Given the description of an element on the screen output the (x, y) to click on. 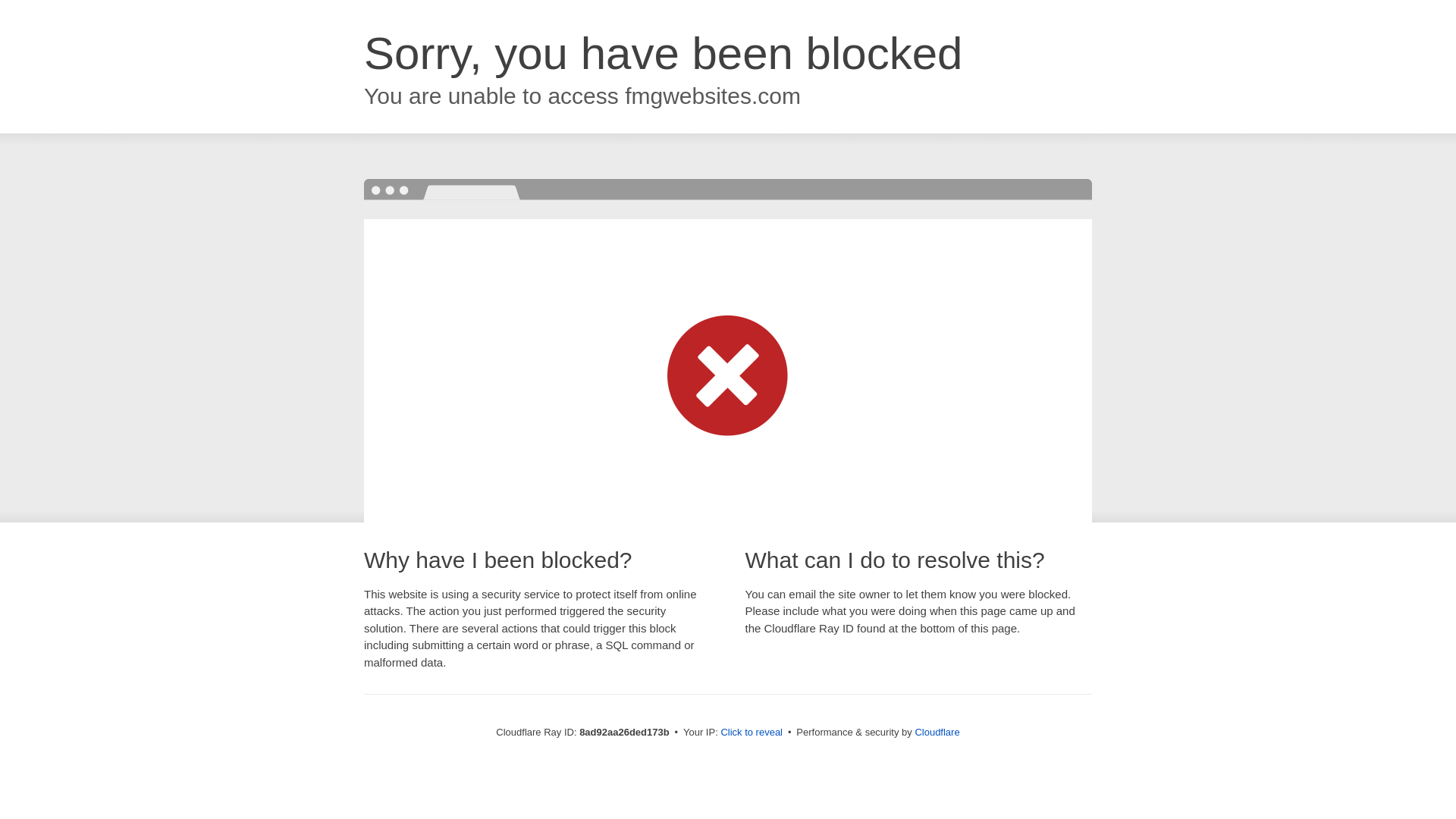
Cloudflare (936, 731)
Click to reveal (751, 732)
